Given the description of an element on the screen output the (x, y) to click on. 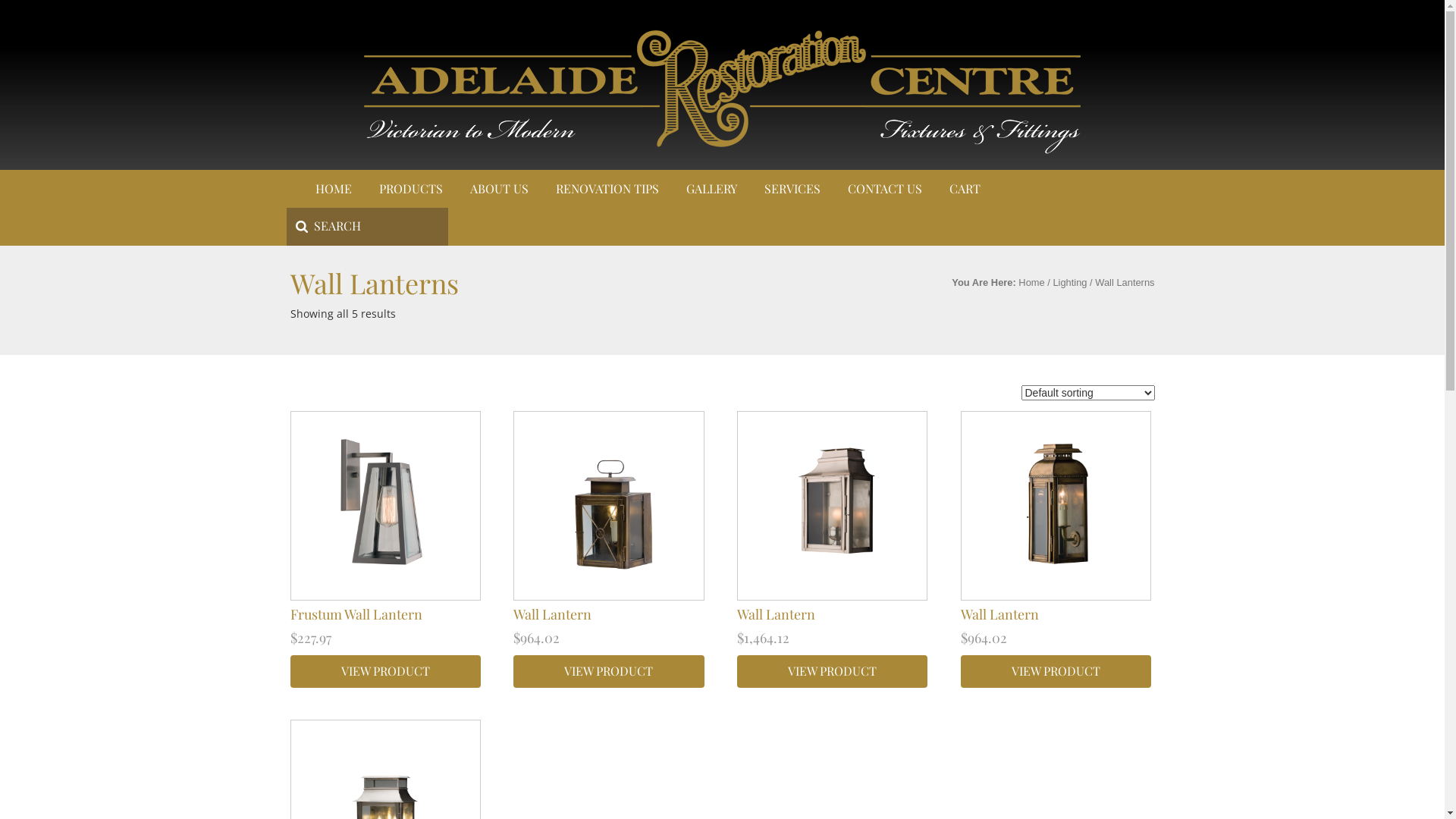
GALLERY Element type: text (710, 188)
Wall Lantern
$964.02 Element type: text (608, 533)
VIEW PRODUCT Element type: text (832, 671)
VIEW PRODUCT Element type: text (384, 671)
Frustum Wall Lantern
$227.97 Element type: text (384, 533)
Wall Lantern
$1,464.12 Element type: text (832, 533)
HOME Element type: text (333, 188)
Lighting Element type: text (1069, 282)
ABOUT US Element type: text (499, 188)
RENOVATION TIPS Element type: text (606, 188)
CART Element type: text (964, 188)
VIEW PRODUCT Element type: text (608, 671)
SERVICES Element type: text (792, 188)
PRODUCTS Element type: text (410, 188)
Home Element type: text (1031, 282)
Wall Lantern
$964.02 Element type: text (1055, 533)
VIEW PRODUCT Element type: text (1055, 671)
CONTACT US Element type: text (884, 188)
